Given the description of an element on the screen output the (x, y) to click on. 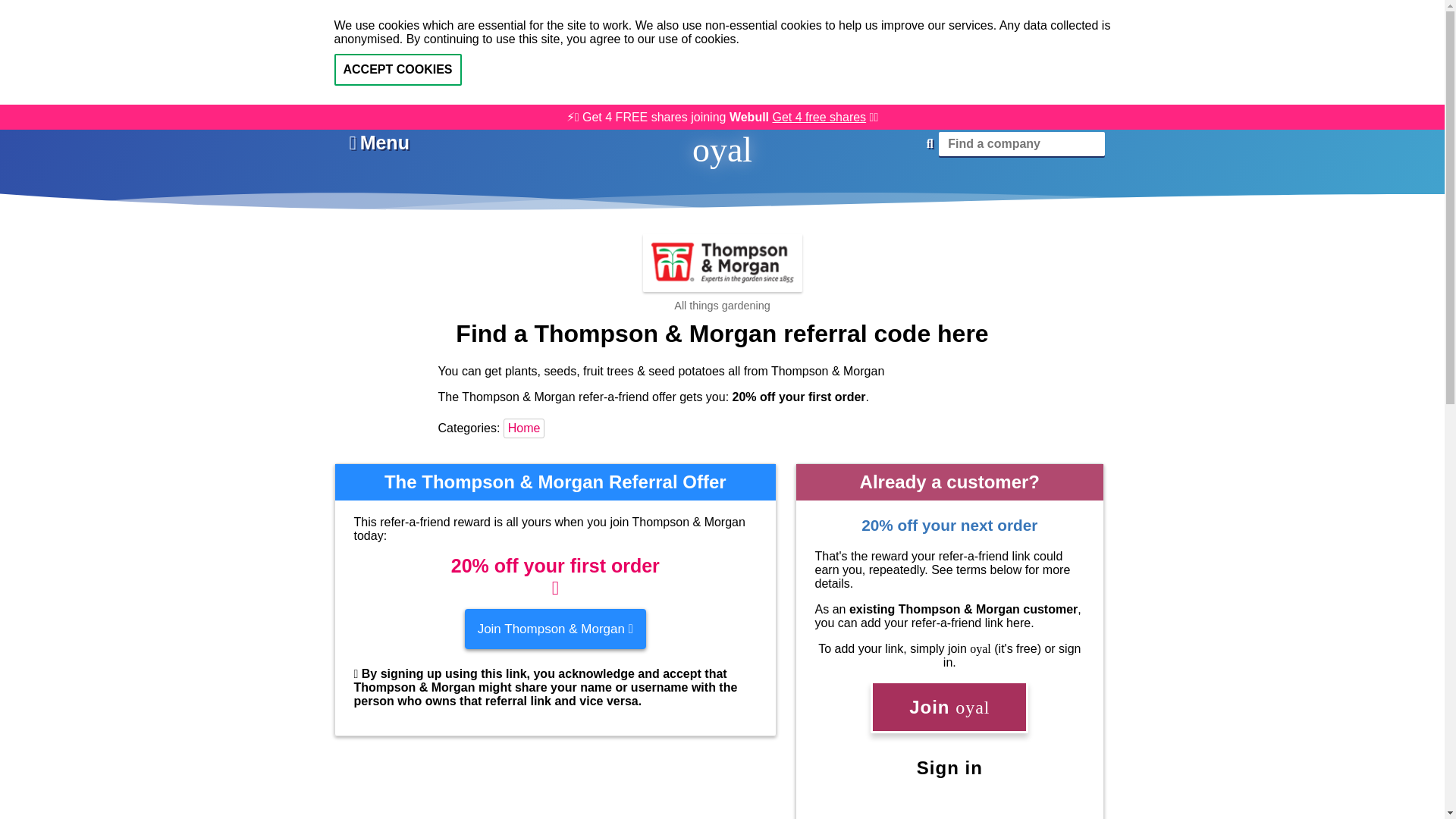
Navigation Menu (379, 142)
Company Search (1022, 143)
Join oyal (948, 706)
Sign in (949, 767)
Get 4 free shares (818, 116)
Menu (379, 142)
oyal (722, 149)
Home (525, 427)
oyal Logo (722, 149)
ACCEPT COOKIES (397, 69)
